Given the description of an element on the screen output the (x, y) to click on. 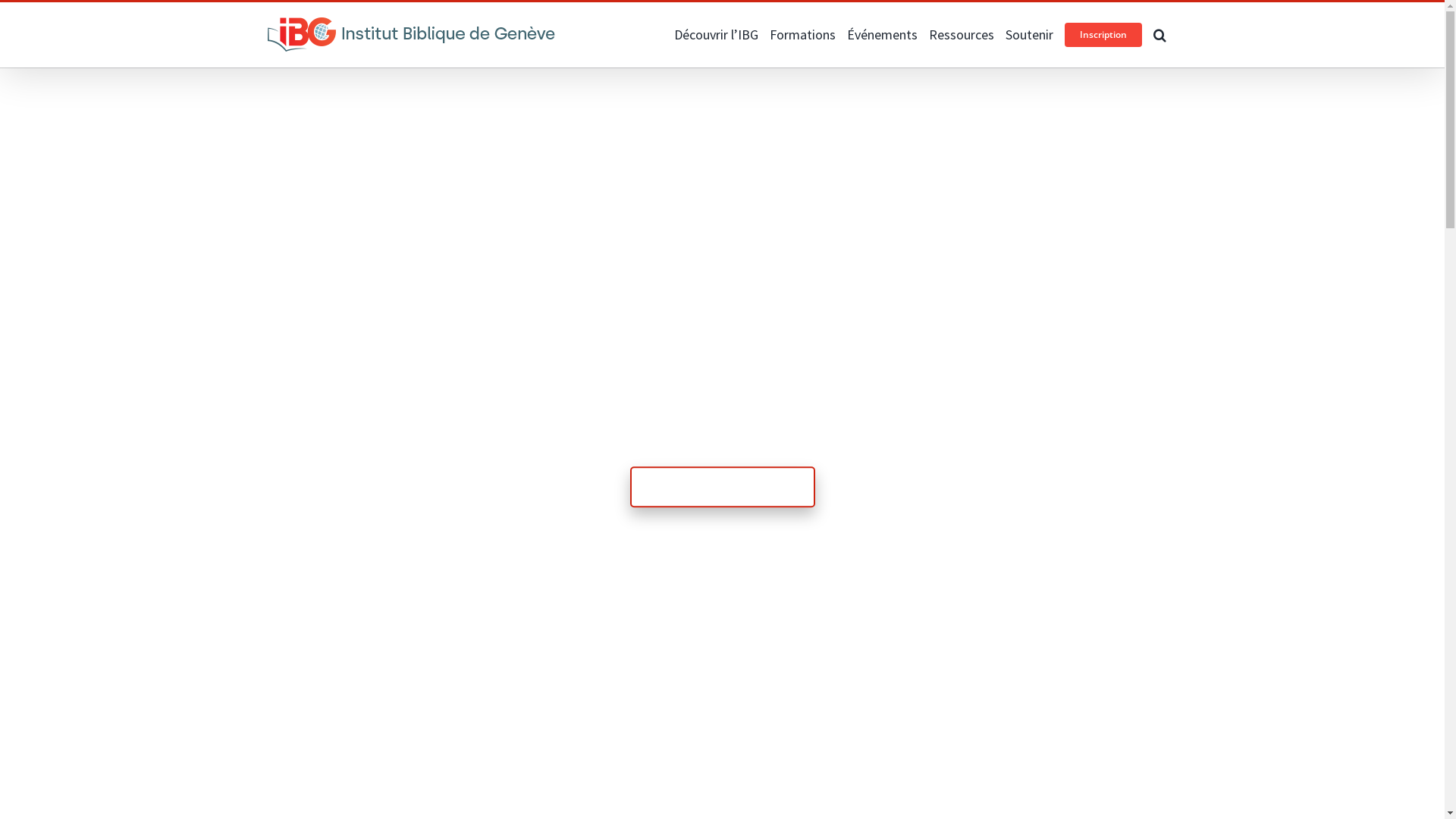
Email Element type: text (327, 16)
Soutenir Element type: text (1029, 34)
Formations Element type: text (801, 34)
Ressources Element type: text (960, 34)
Facebook Element type: text (272, 16)
Instagram Element type: text (300, 16)
Inscription Element type: text (1103, 34)
Recherche Element type: hover (1158, 34)
Info premier cycle Element type: text (721, 486)
